Given the description of an element on the screen output the (x, y) to click on. 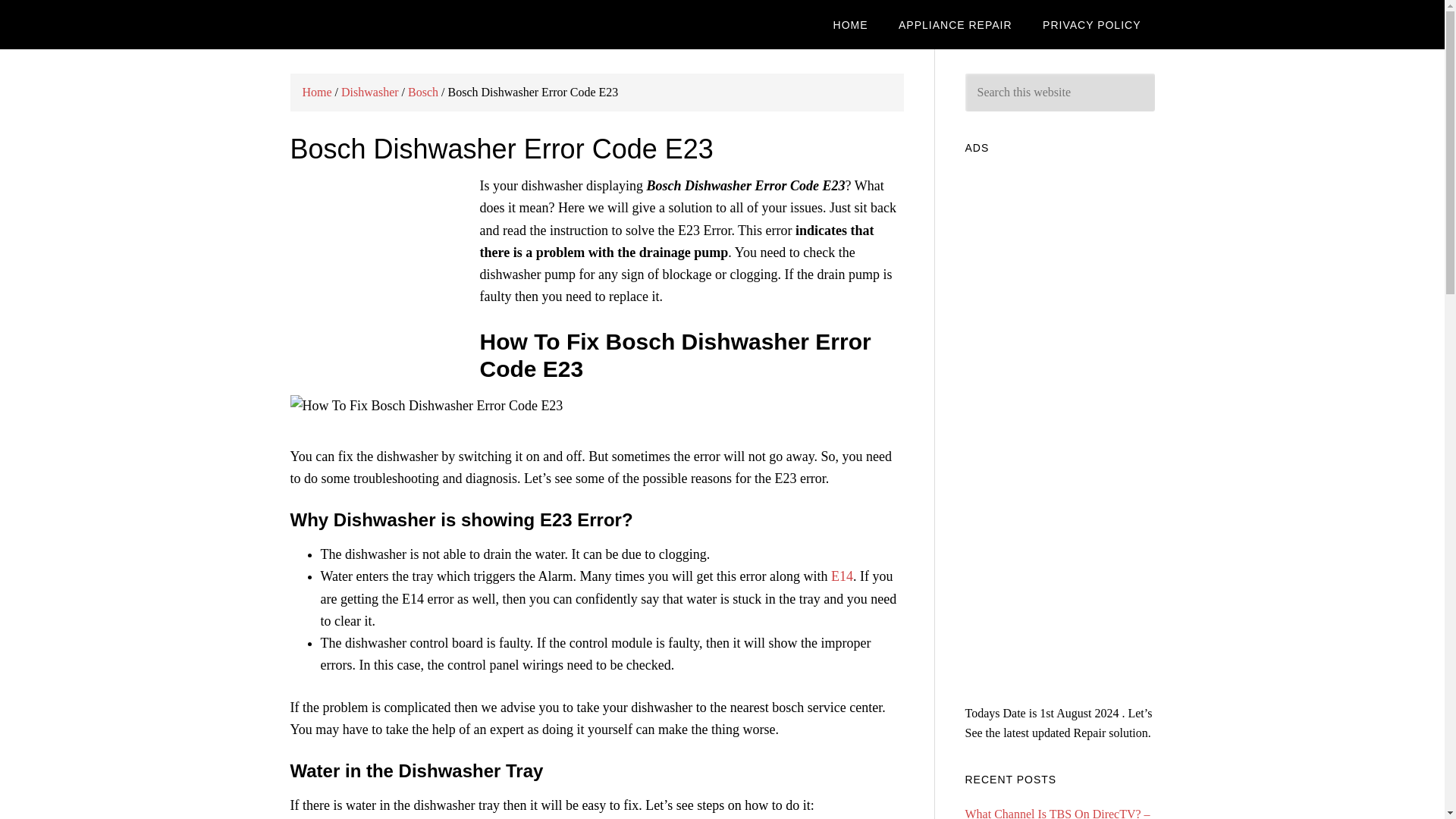
APPLIANCE REPAIR (955, 24)
HOME (850, 24)
Dishwasher (369, 91)
PRIVACY POLICY (1091, 24)
E14 (842, 575)
REPAIR FIX IT (410, 24)
Bosch (422, 91)
Home (316, 91)
